Given the description of an element on the screen output the (x, y) to click on. 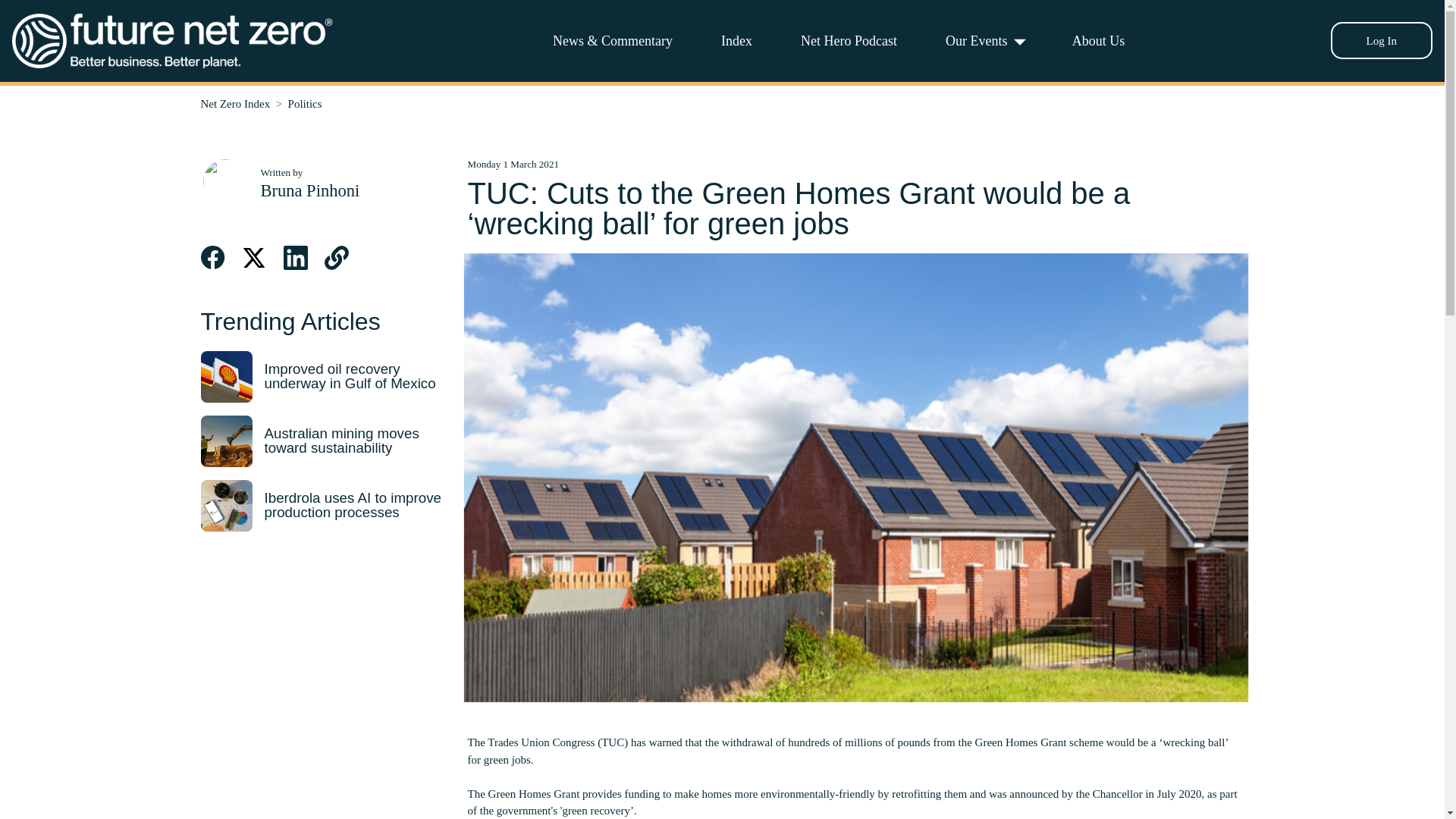
Share on LinkedIn (295, 257)
Share on Twitter (253, 257)
About Us (1098, 40)
Politics (304, 102)
Net Zero Index (234, 102)
Log In (1381, 40)
Share on Facebook (212, 257)
Green Homes Grant (1021, 742)
